Given the description of an element on the screen output the (x, y) to click on. 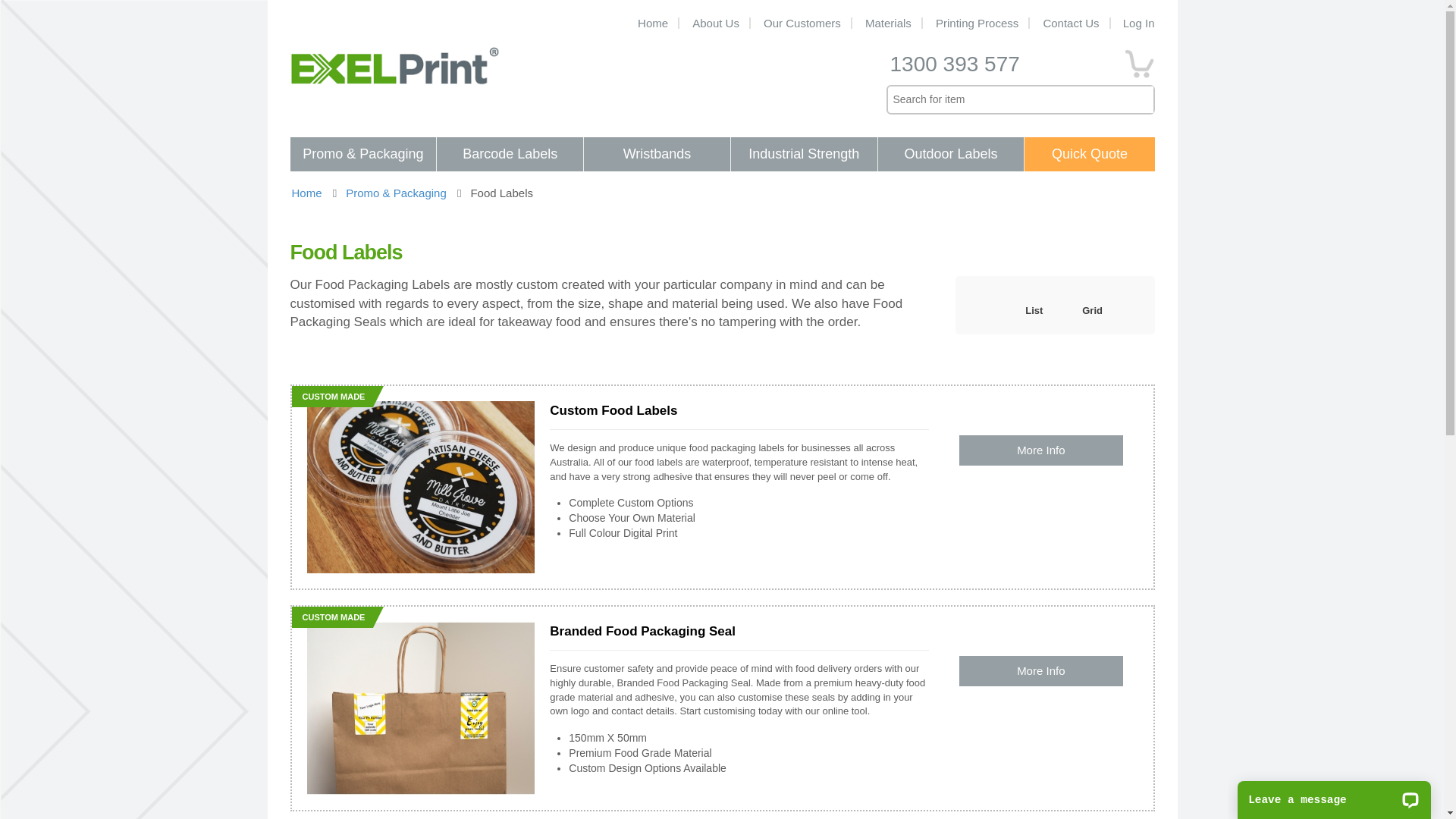
More Info Element type: text (1040, 670)
Wristbands Element type: text (656, 154)
Our Customers Element type: text (802, 22)
More Info Element type: text (1040, 450)
Log In Element type: text (1133, 22)
Home Element type: text (653, 22)
Home Element type: text (306, 192)
Promo & Packaging Element type: text (362, 154)
Industrial Strength Element type: text (804, 154)
Printing Process Element type: text (977, 22)
About Us Element type: text (716, 22)
0 Element type: text (1138, 56)
Materials Element type: text (888, 22)
List Element type: text (1033, 310)
Branded Food Packaging Seal Element type: text (642, 631)
Grid Element type: text (1092, 310)
Barcode Labels Element type: text (509, 154)
Promo & Packaging Element type: text (395, 192)
Quick Quote Element type: text (1089, 154)
Custom Food Labels Element type: text (613, 410)
Outdoor Labels Element type: text (951, 154)
Contact Us Element type: text (1071, 22)
